Given the description of an element on the screen output the (x, y) to click on. 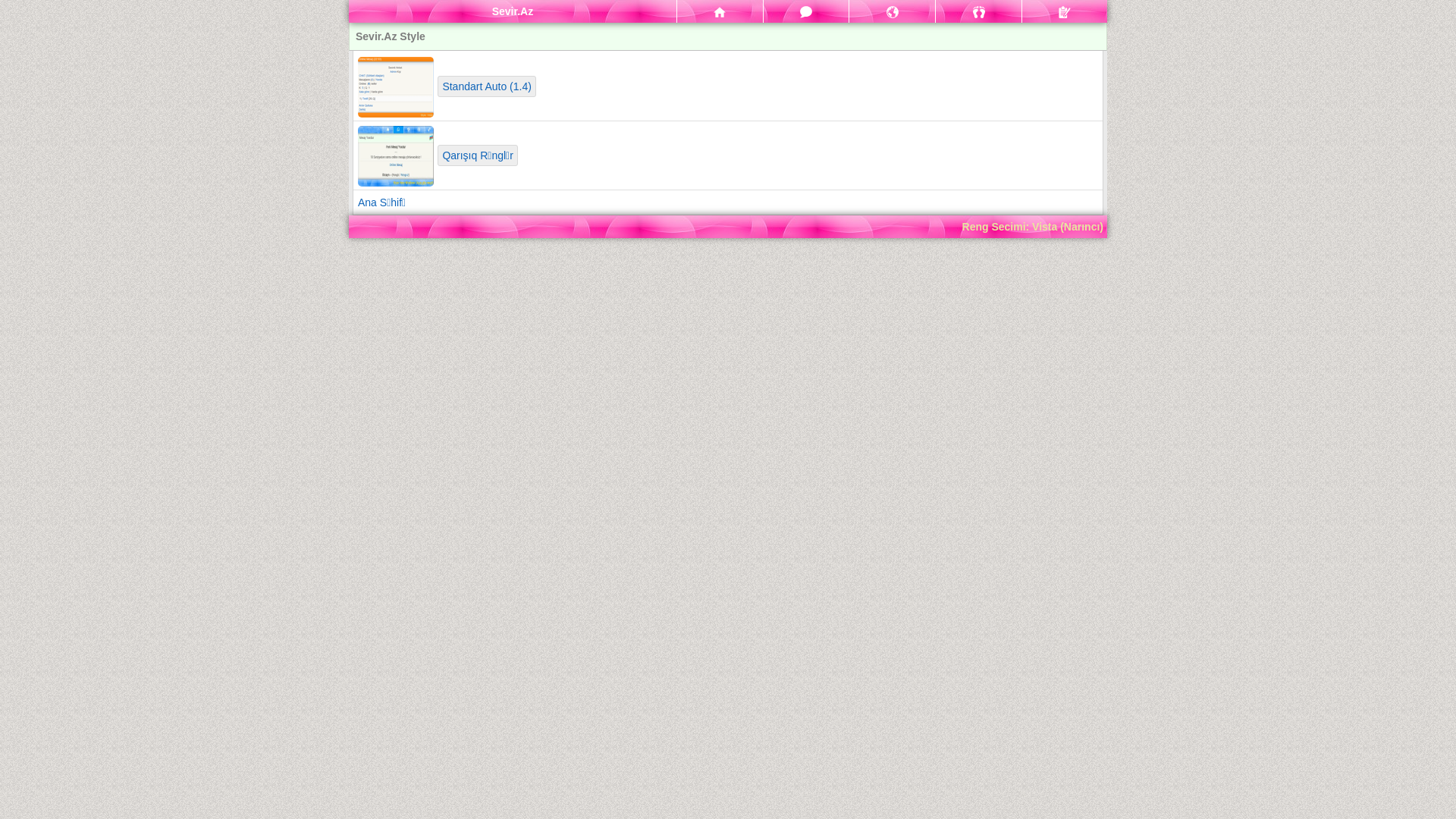
Qonaqlar Element type: hover (978, 11)
Bildirisler Element type: hover (892, 11)
Standart Auto (1.4) Element type: text (486, 86)
Qeydiyyat Element type: hover (1064, 11)
Mesajlar Element type: hover (806, 11)
